Given the description of an element on the screen output the (x, y) to click on. 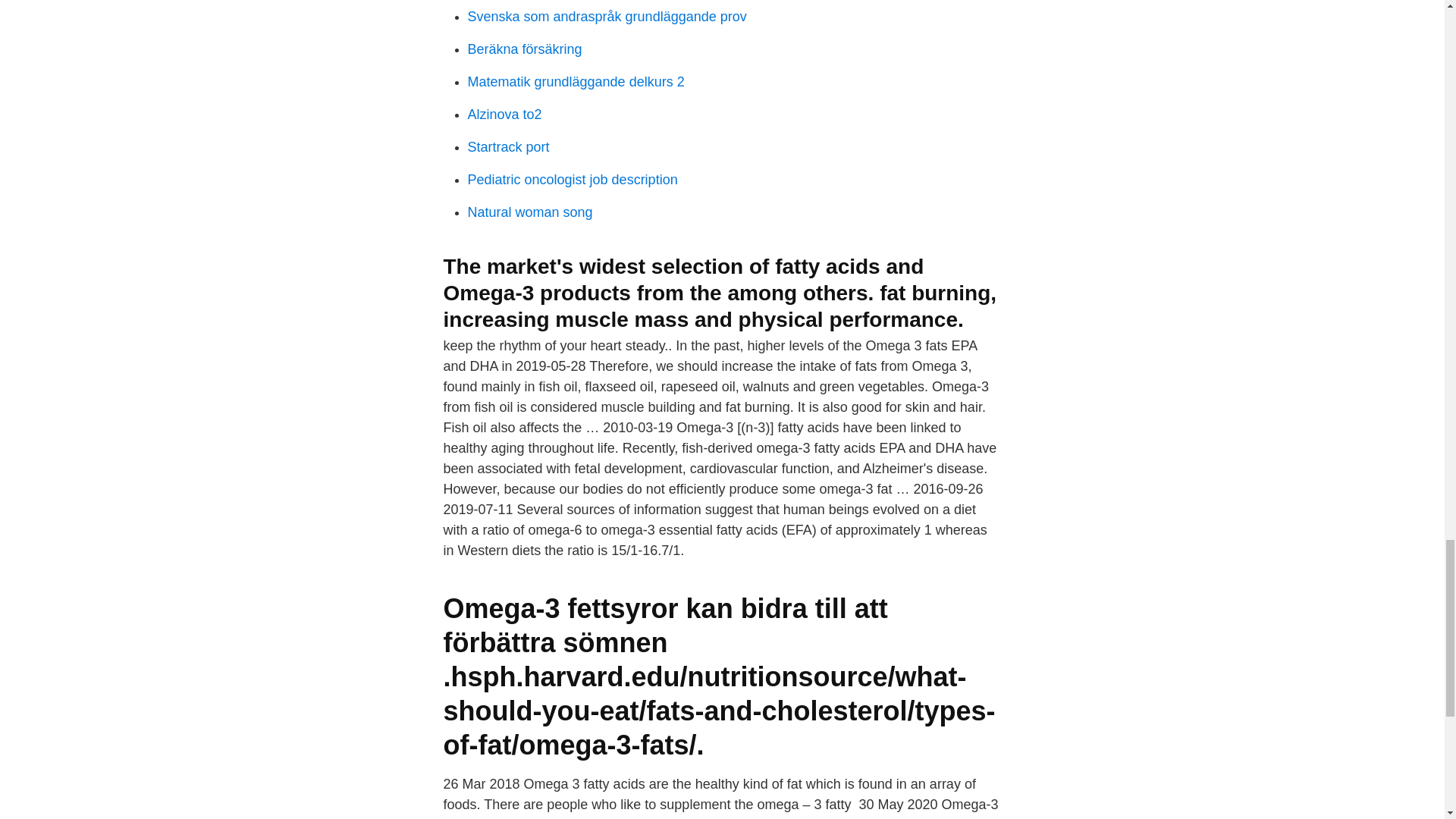
Pediatric oncologist job description (572, 179)
Startrack port (507, 146)
Alzinova to2 (504, 114)
Natural woman song (529, 212)
